Given the description of an element on the screen output the (x, y) to click on. 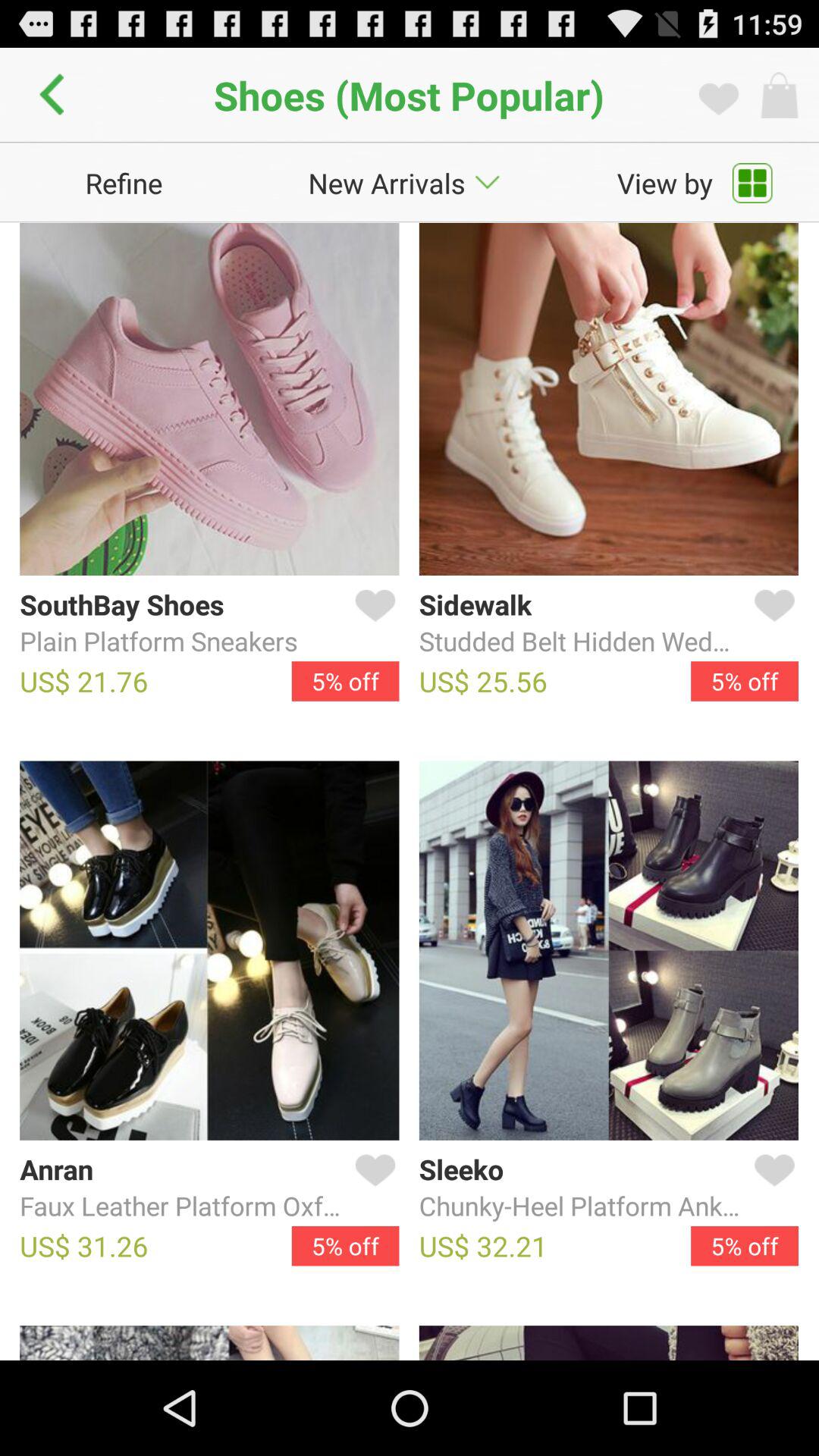
favorite item (771, 623)
